Given the description of an element on the screen output the (x, y) to click on. 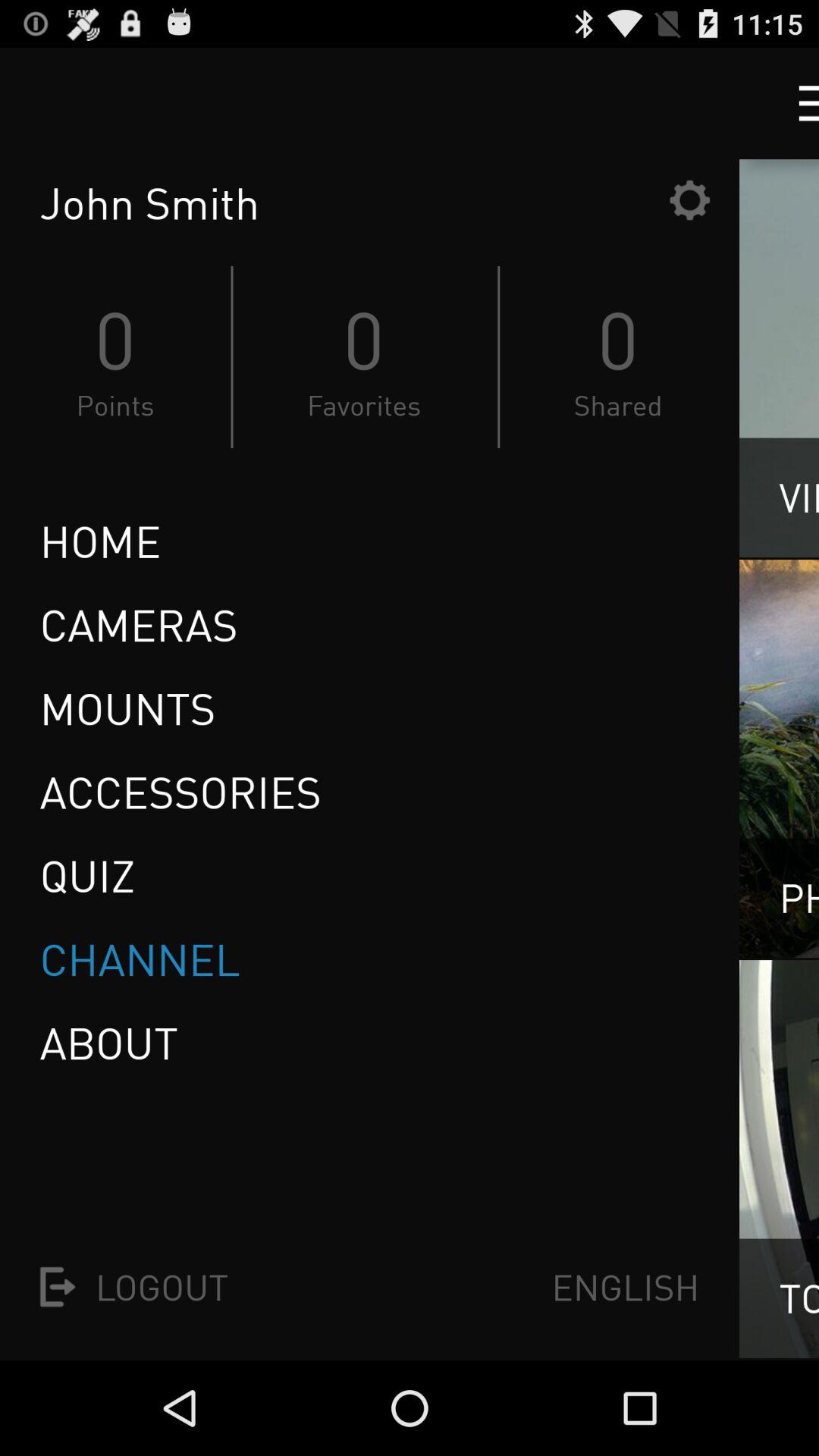
menu (795, 102)
